Given the description of an element on the screen output the (x, y) to click on. 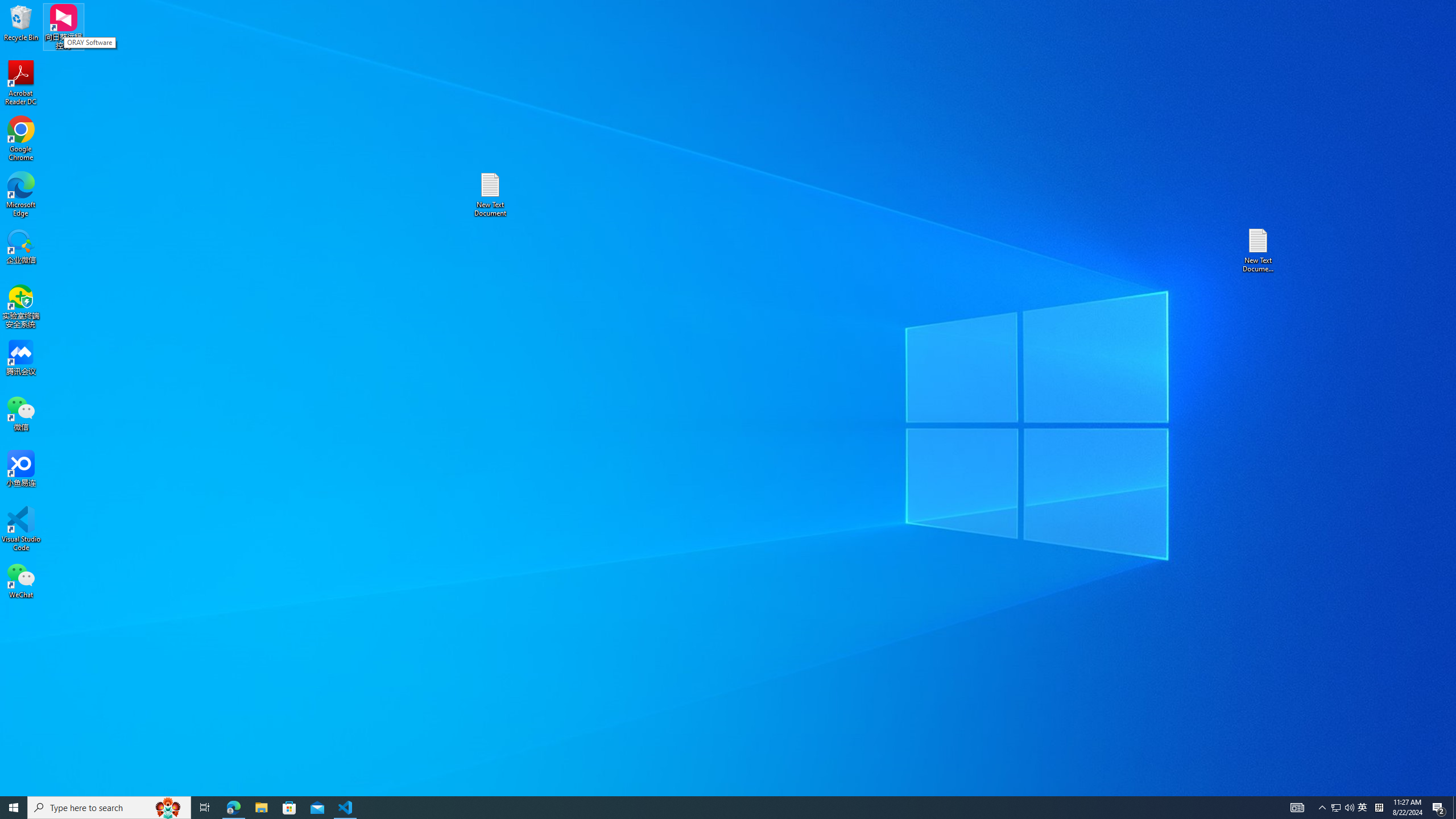
Recycle Bin (1362, 807)
Tray Input Indicator - Chinese (Simplified, China) (21, 22)
Visual Studio Code - 1 running window (1378, 807)
Search highlights icon opens search home window (345, 807)
Task View (167, 807)
Visual Studio Code (204, 807)
Start (21, 528)
AutomationID: 4105 (13, 807)
Microsoft Edge - 1 running window (1297, 807)
Microsoft Store (233, 807)
Microsoft Edge (289, 807)
